Given the description of an element on the screen output the (x, y) to click on. 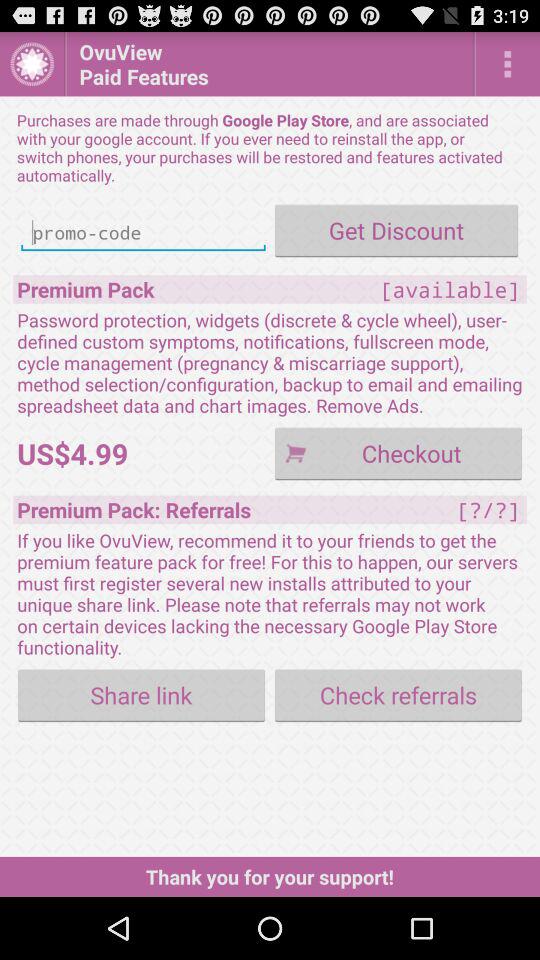
select the icon below password protection widgets icon (398, 452)
